Given the description of an element on the screen output the (x, y) to click on. 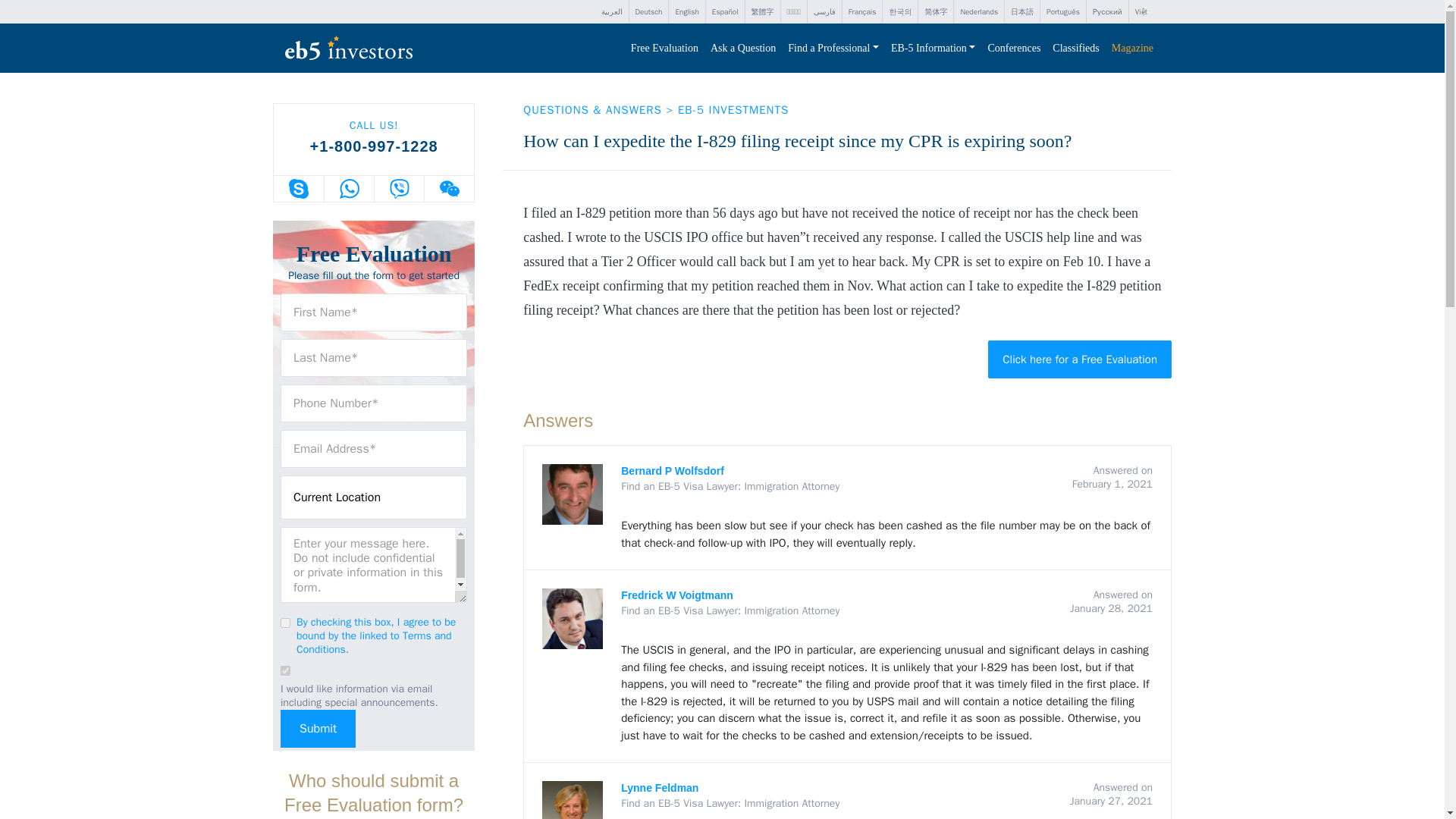
Nederlands (978, 11)
English (686, 11)
1 (285, 623)
Ask a Question (742, 48)
Find a Professional (833, 48)
Submit (318, 728)
Free Evaluation (664, 48)
Deutsch (648, 11)
Free Evaluation (664, 48)
Find a Professional (833, 48)
EB-5 Information (933, 48)
Ask a Question (742, 48)
